Given the description of an element on the screen output the (x, y) to click on. 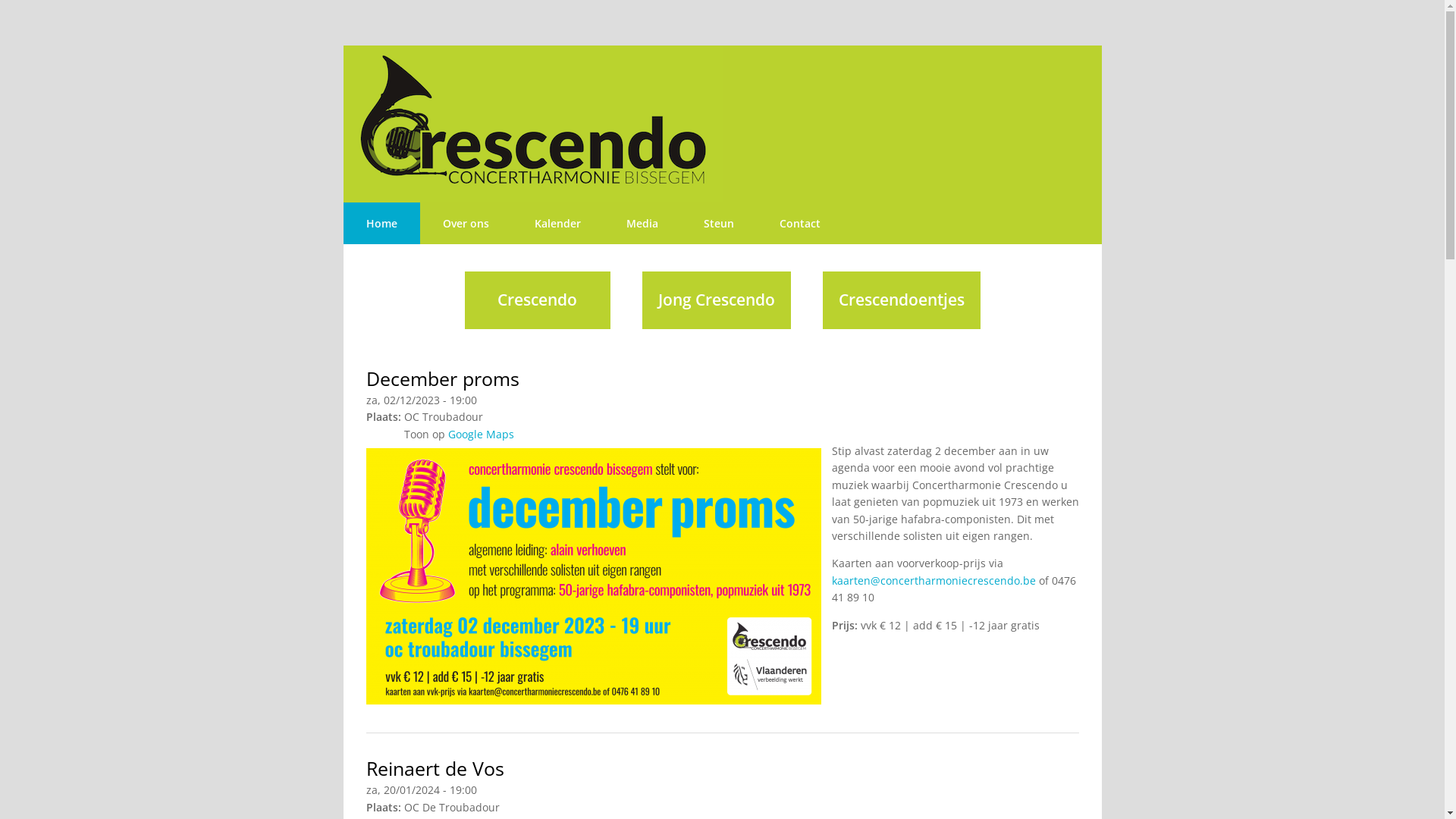
Media Element type: text (641, 223)
Google Maps Element type: text (480, 433)
Crescendo Element type: text (536, 300)
Steun Element type: text (718, 223)
Over ons Element type: text (465, 223)
Reinaert de Vos Element type: text (434, 768)
Home Element type: text (380, 223)
Crescendoentjes Element type: text (900, 300)
Home Element type: hover (721, 123)
Jong Crescendo Element type: text (715, 300)
kaarten@concertharmoniecrescendo.be Element type: text (933, 580)
Kalender Element type: text (556, 223)
December proms Element type: text (441, 378)
Contact Element type: text (799, 223)
